Given the description of an element on the screen output the (x, y) to click on. 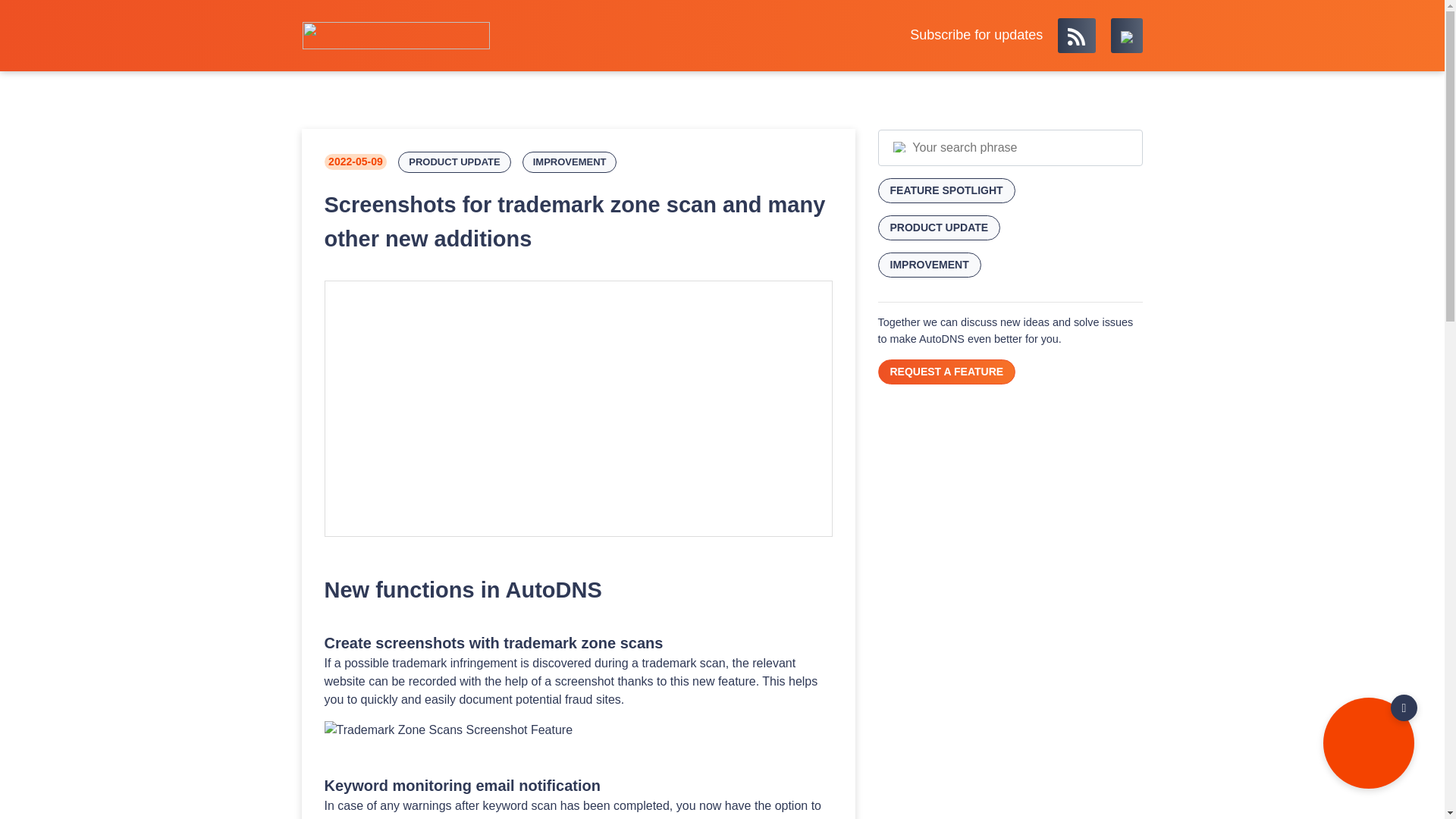
Product Update (454, 161)
Feature Spotlight (945, 190)
IMPROVEMENT (929, 264)
FEATURE SPOTLIGHT (945, 190)
REQUEST A FEATURE (946, 371)
Product Update (939, 227)
AutoDNS Changelog Version 1.27 (578, 408)
AutoDNS Changelog Version 1.27 (577, 407)
IMPROVEMENT (569, 161)
PRODUCT UPDATE (454, 161)
Improvement (929, 264)
PRODUCT UPDATE (939, 227)
Improvement (569, 161)
